Given the description of an element on the screen output the (x, y) to click on. 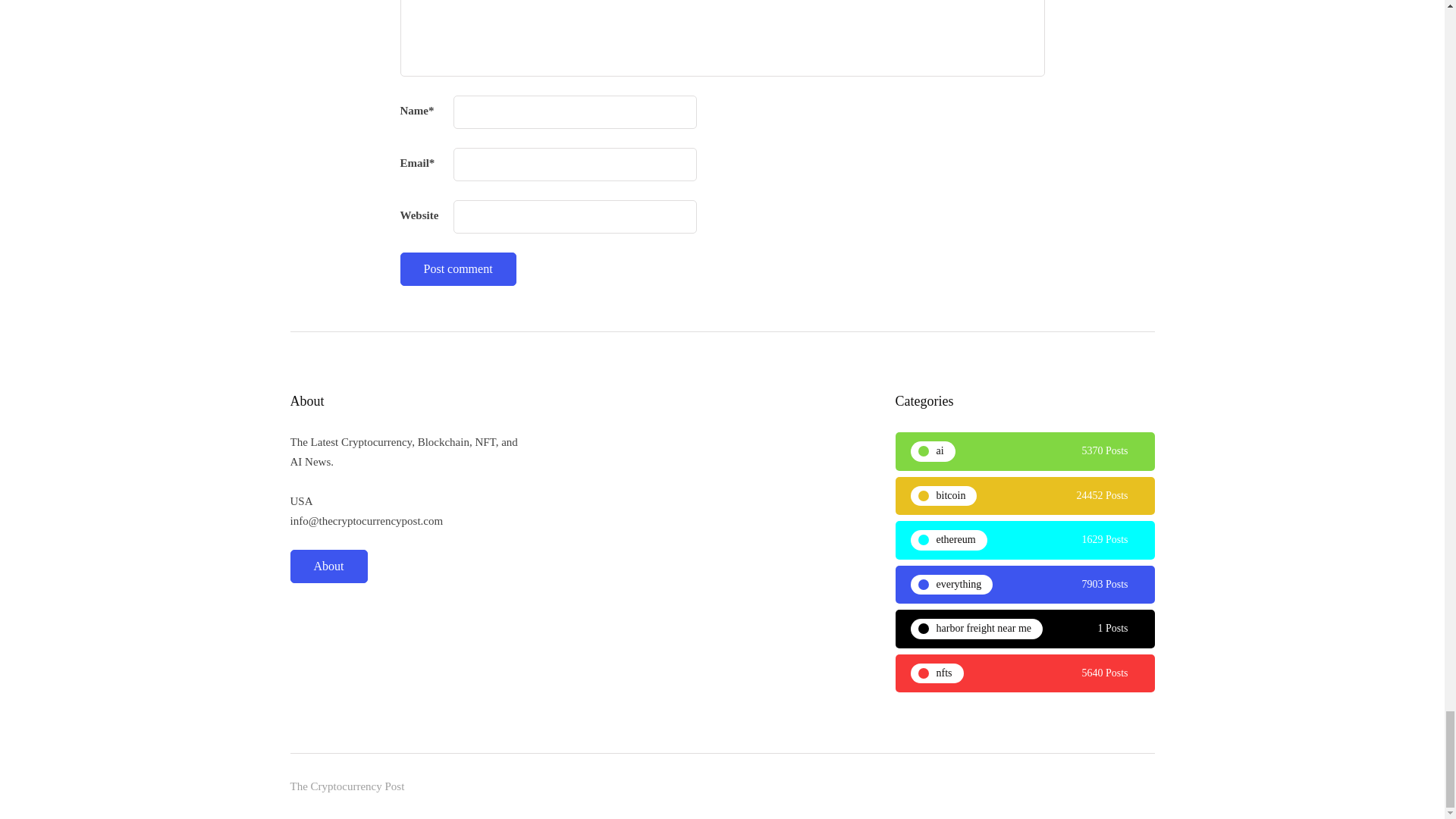
Post comment (458, 268)
